Given the description of an element on the screen output the (x, y) to click on. 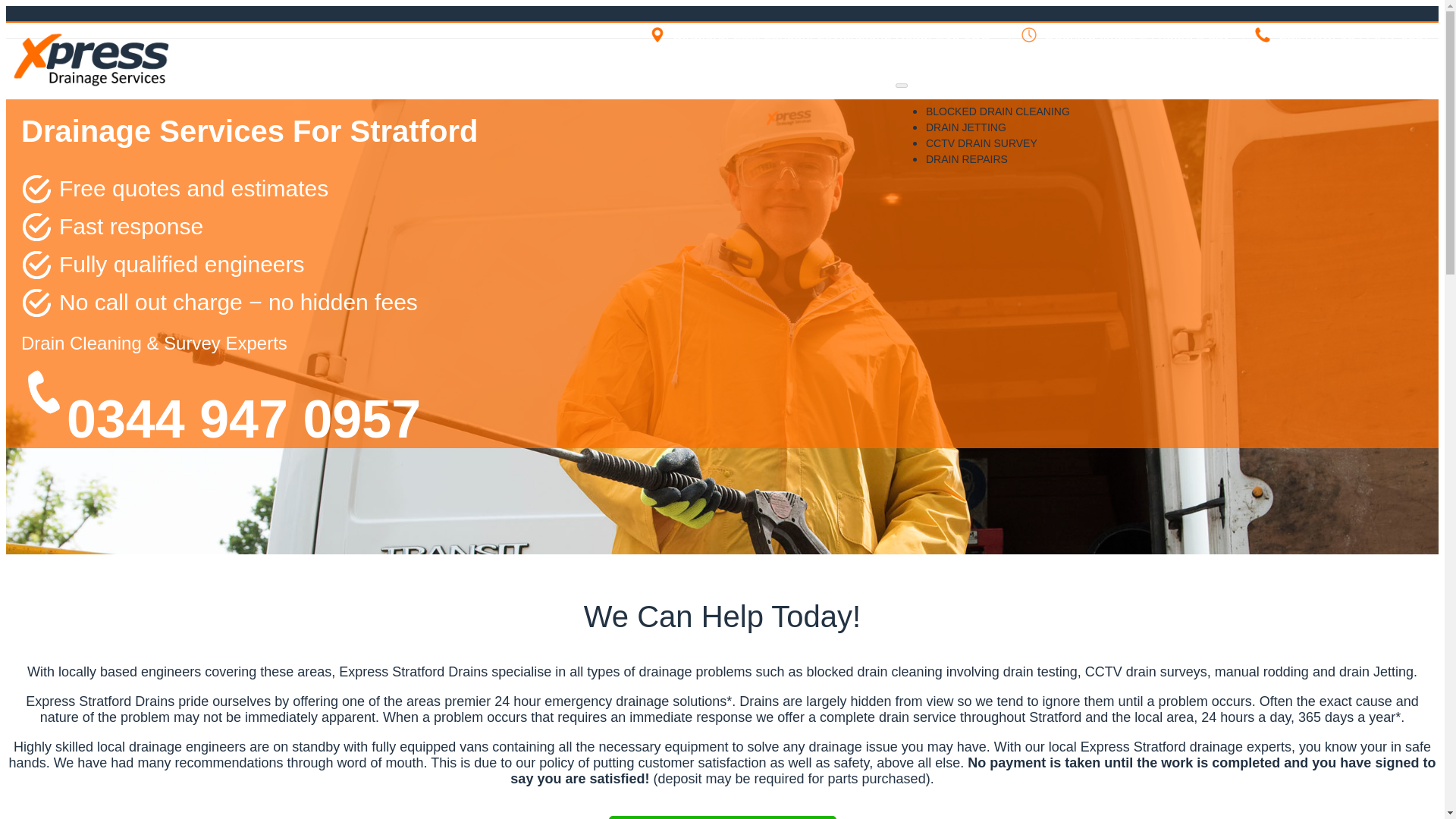
Drain Repairs (966, 159)
0344 947 0957 (243, 418)
Blocked Drain Cleaning (998, 111)
DRAIN JETTING (966, 127)
BLOCKED DRAIN CLEANING (998, 111)
Toggle navigation (901, 85)
CCTV DRAIN SURVEY (981, 143)
0344 947 0957 (1385, 34)
DRAIN REPAIRS (966, 159)
CCTV Drain Survey (981, 143)
Drain Jetting (966, 127)
